Given the description of an element on the screen output the (x, y) to click on. 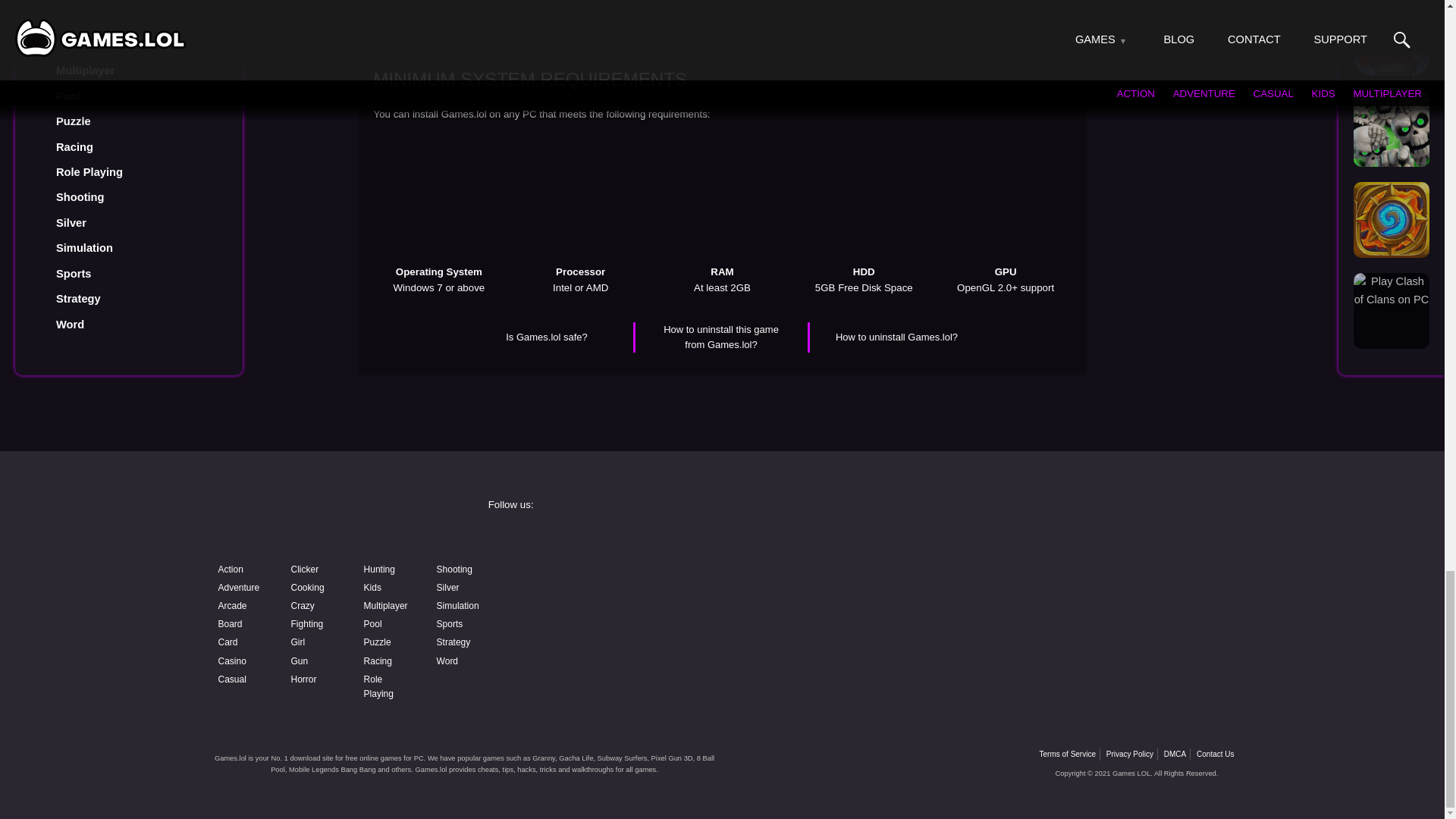
YouTube (603, 579)
Discord (838, 579)
Instagram (838, 540)
Facebook (603, 540)
Twitter (1073, 540)
Games.lol free game download website logo (319, 519)
